Given the description of an element on the screen output the (x, y) to click on. 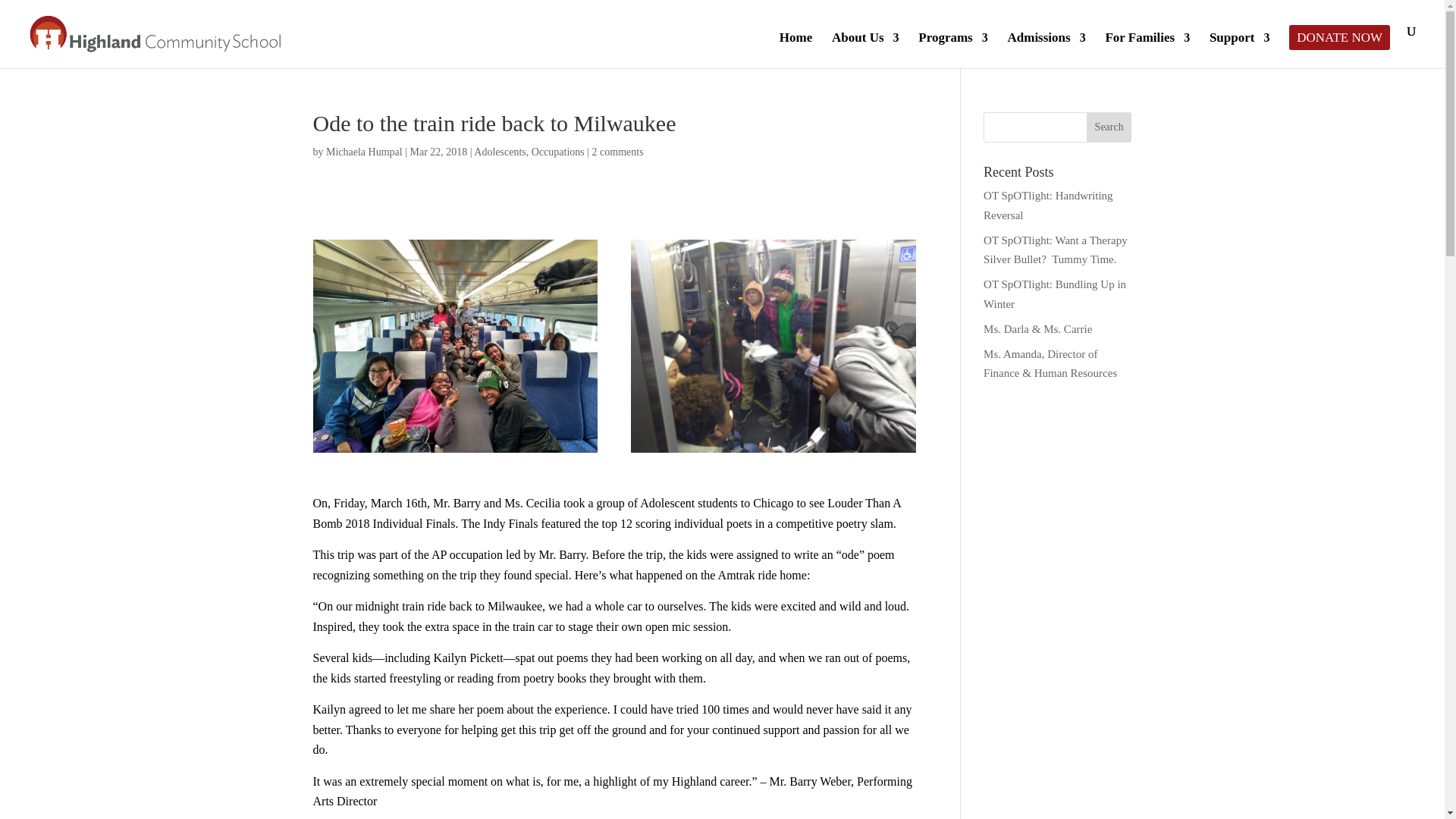
About Us (865, 49)
Programs (952, 49)
For Families (1147, 49)
Home (795, 49)
Search (1109, 127)
Posts by Michaela Humpal (364, 152)
Admissions (1045, 49)
